Given the description of an element on the screen output the (x, y) to click on. 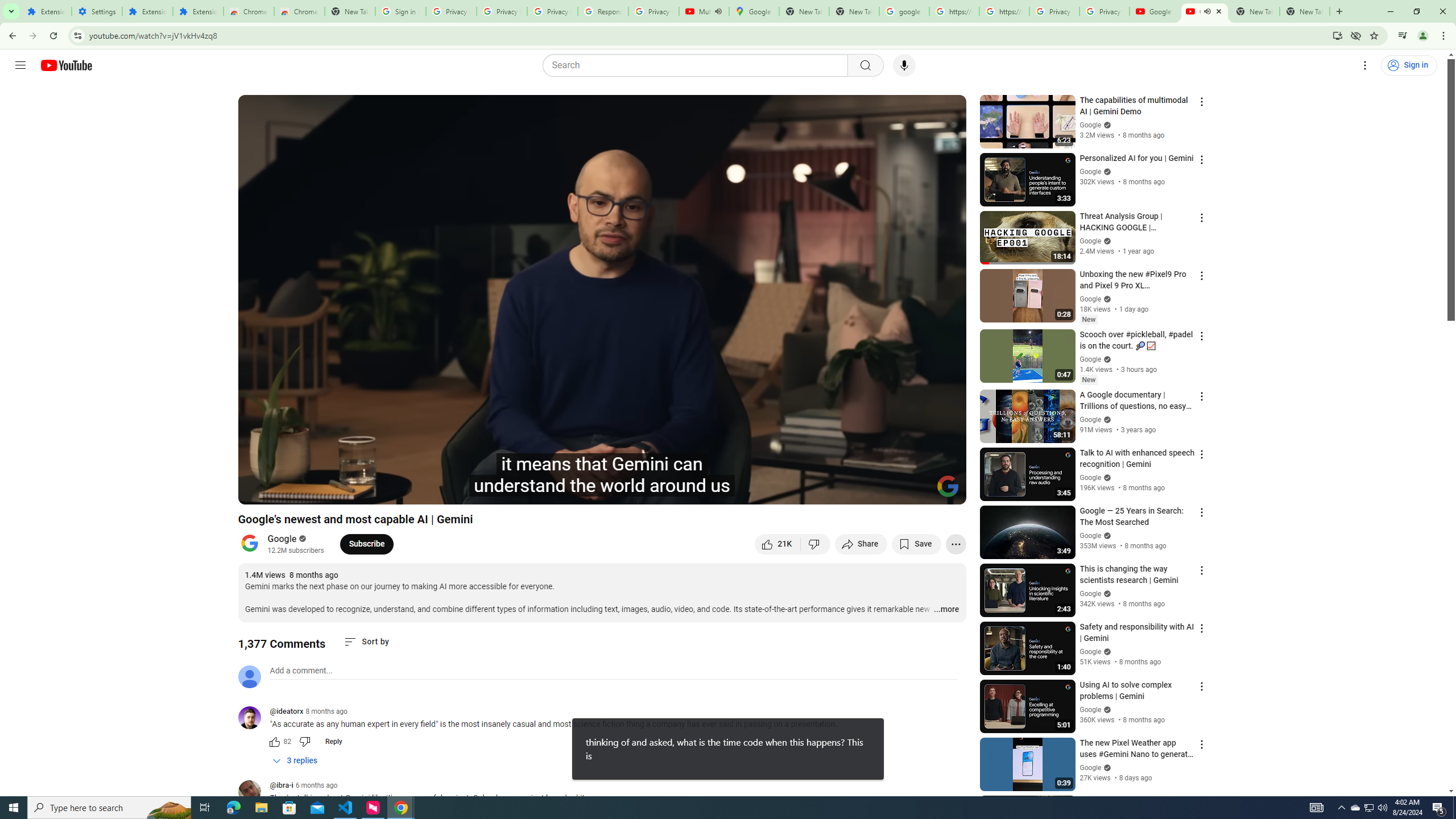
Play (k) (257, 490)
More actions (955, 543)
Mute keyboard shortcut m (312, 490)
Google - YouTube (1154, 11)
New (1087, 379)
Guide (20, 65)
